Given the description of an element on the screen output the (x, y) to click on. 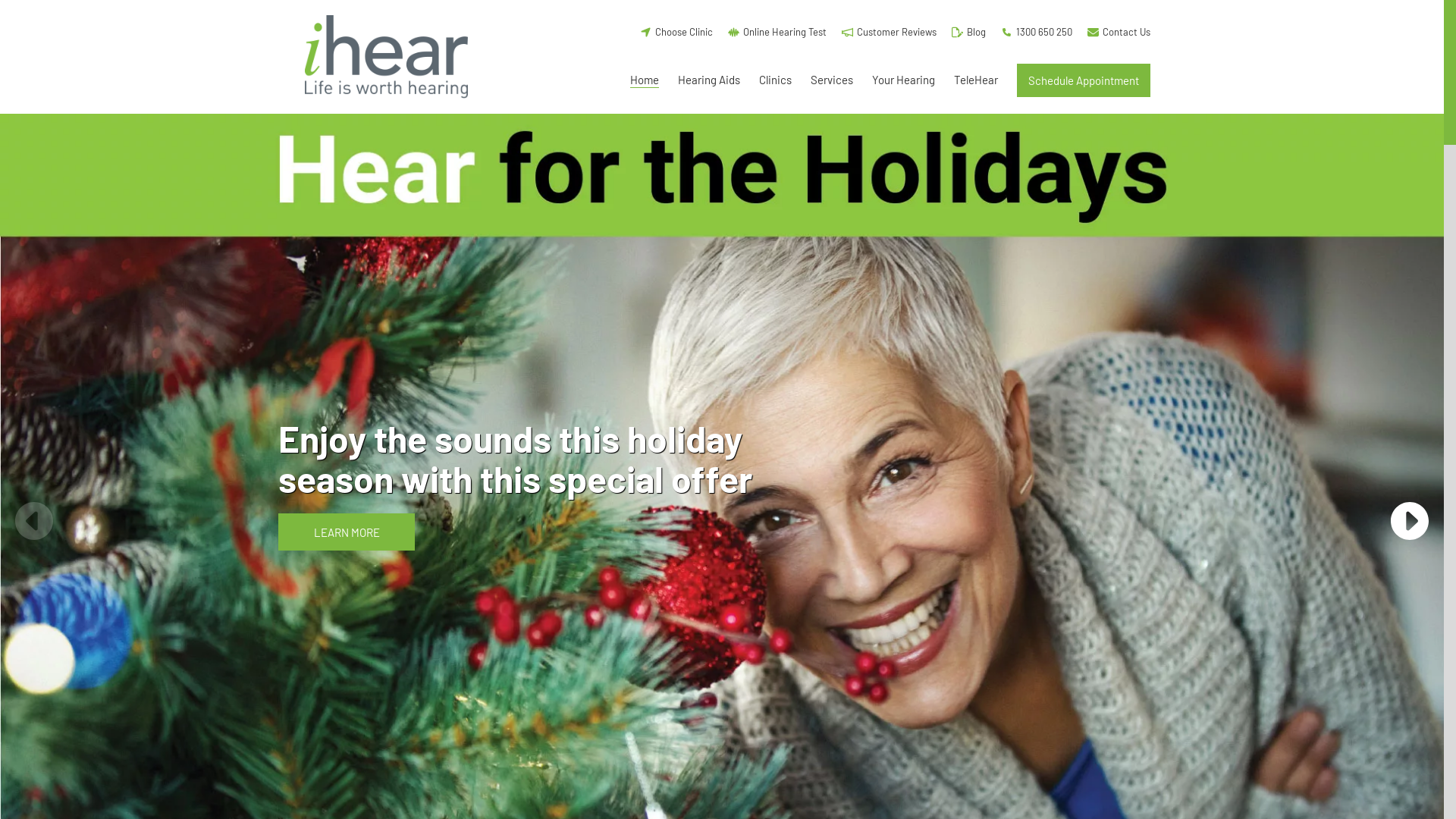
Services Element type: text (831, 79)
Choose Clinic Element type: text (676, 30)
Customer Reviews Element type: text (888, 30)
Online Hearing Test Element type: text (777, 30)
1300 650 250 Element type: text (1036, 30)
Blog Element type: text (968, 30)
ihear Element type: hover (386, 56)
Hearing Aids Element type: text (708, 79)
Contact Us Element type: text (1118, 30)
LEARN MORE Element type: text (346, 531)
Schedule Appointment Element type: text (1083, 80)
Clinics Element type: text (775, 79)
Home Element type: text (644, 79)
TeleHear Element type: text (975, 79)
Your Hearing Element type: text (903, 79)
